Given the description of an element on the screen output the (x, y) to click on. 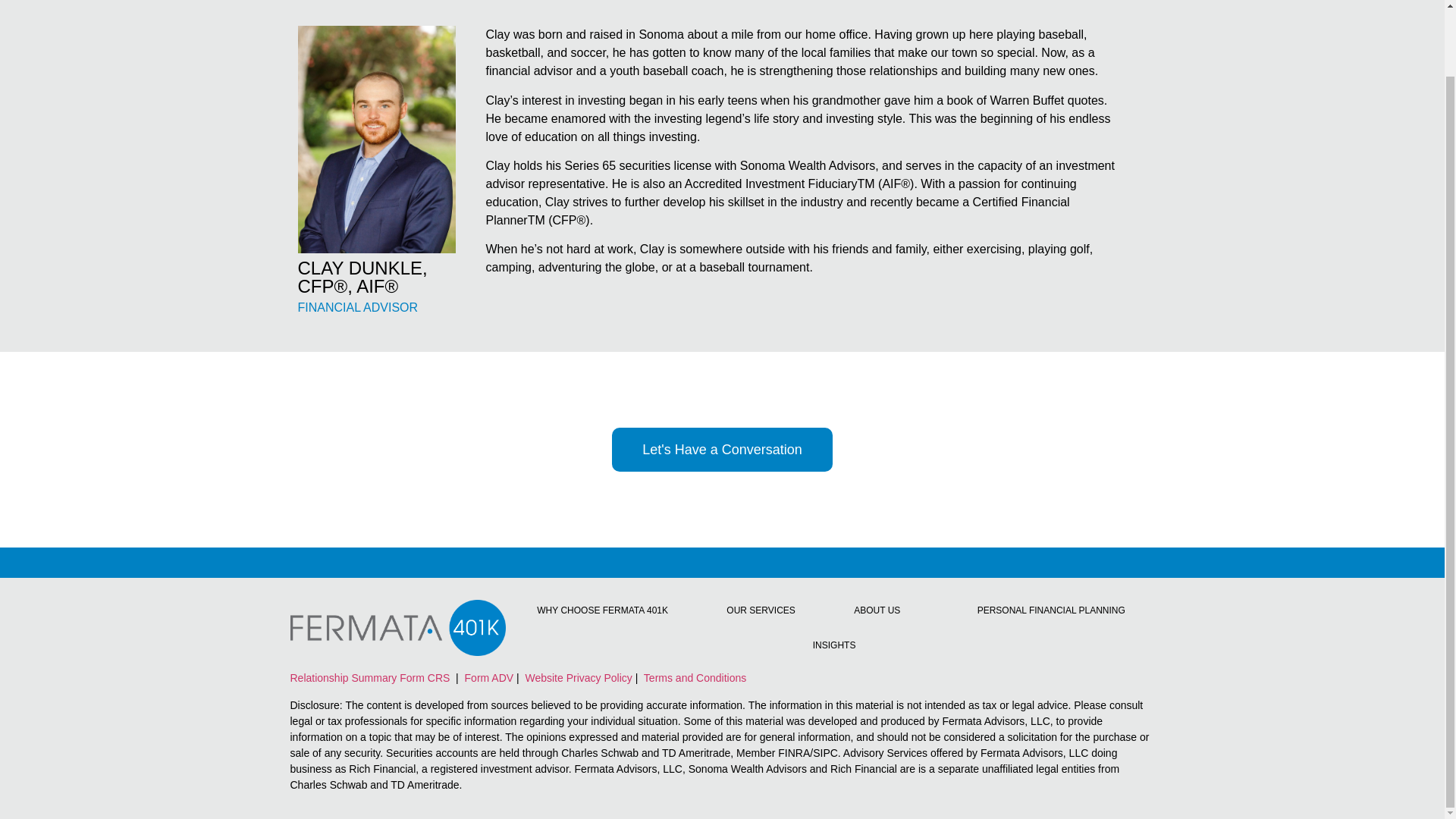
OUR SERVICES (760, 610)
PERSONAL FINANCIAL PLANNING (1050, 610)
Let's Have a Conversation (721, 449)
INSIGHTS (833, 645)
 Website Privacy Policy (576, 677)
 Terms and Conditions (692, 677)
Relationship Summary Form CRS (370, 677)
WHY CHOOSE FERMATA 401K (602, 610)
 Form ADV (487, 677)
ABOUT US (877, 610)
